Given the description of an element on the screen output the (x, y) to click on. 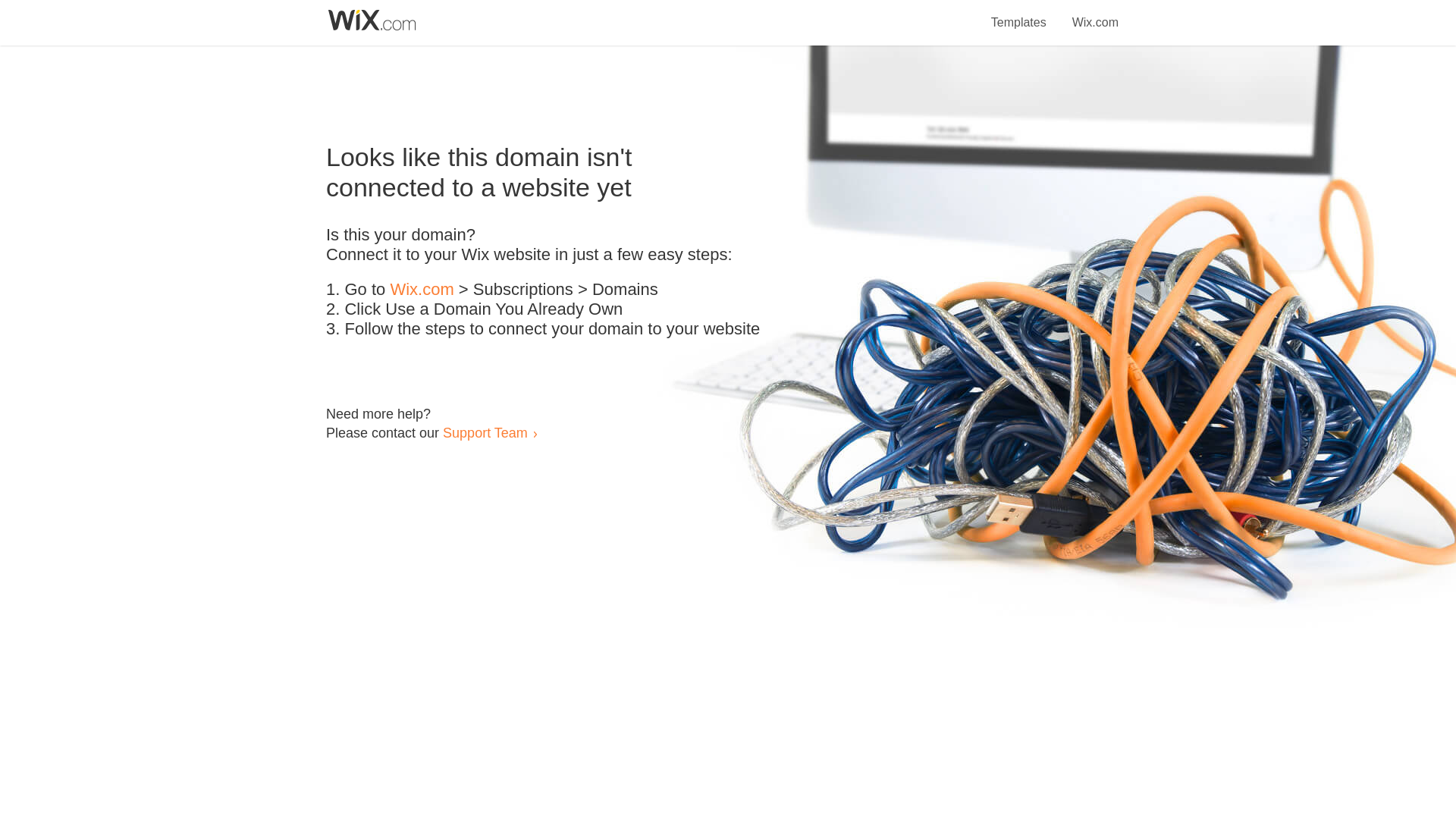
Wix.com (421, 289)
Templates (1018, 14)
Wix.com (1095, 14)
Support Team (484, 432)
